Given the description of an element on the screen output the (x, y) to click on. 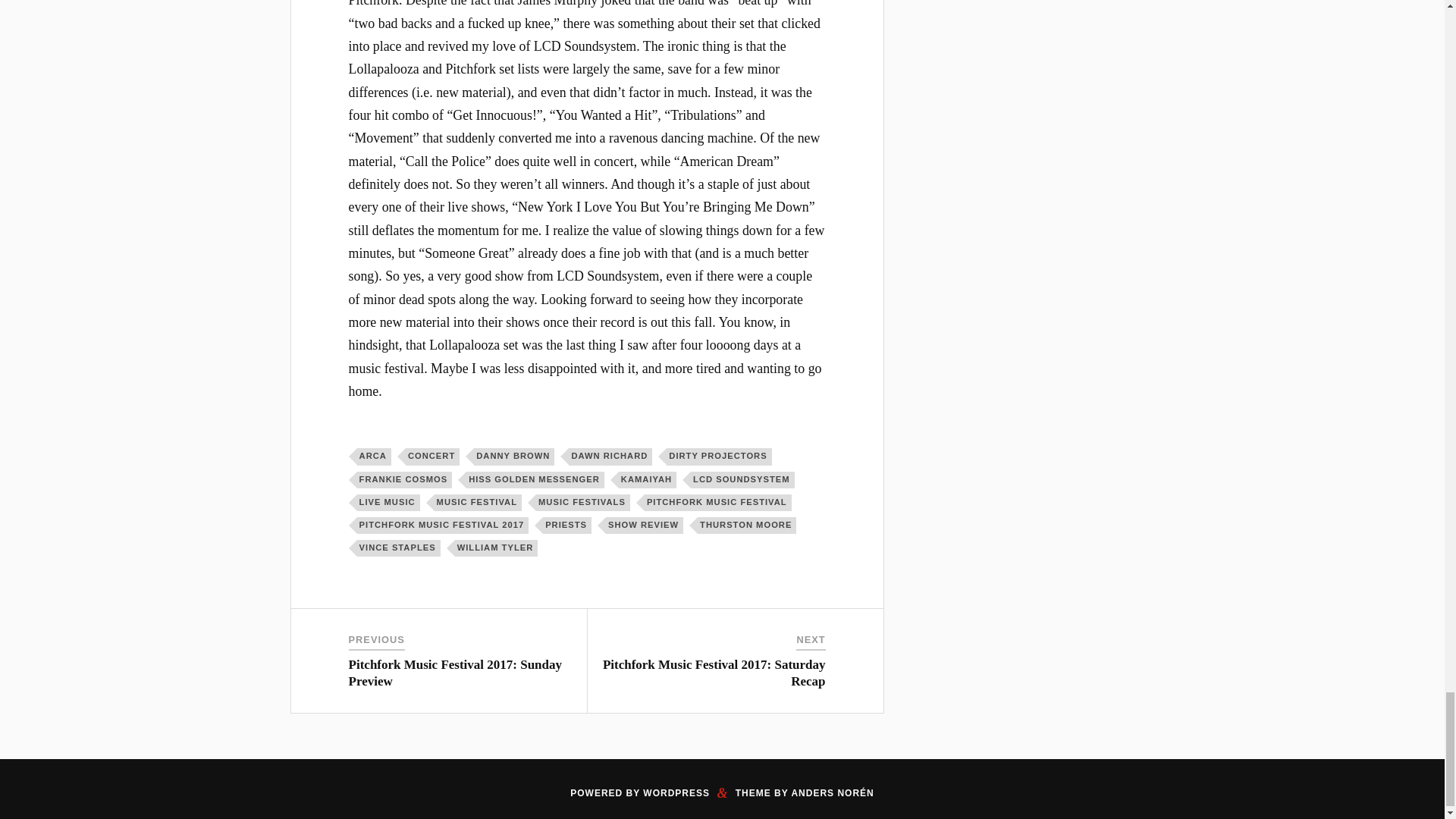
MUSIC FESTIVALS (582, 502)
VINCE STAPLES (398, 547)
PRIESTS (567, 524)
DANNY BROWN (514, 456)
WILLIAM TYLER (496, 547)
Pitchfork Music Festival 2017: Saturday Recap (713, 672)
THURSTON MOORE (746, 524)
HISS GOLDEN MESSENGER (534, 479)
DIRTY PROJECTORS (718, 456)
KAMAIYAH (647, 479)
SHOW REVIEW (643, 524)
PITCHFORK MUSIC FESTIVAL (718, 502)
FRANKIE COSMOS (404, 479)
ARCA (373, 456)
CONCERT (433, 456)
